Given the description of an element on the screen output the (x, y) to click on. 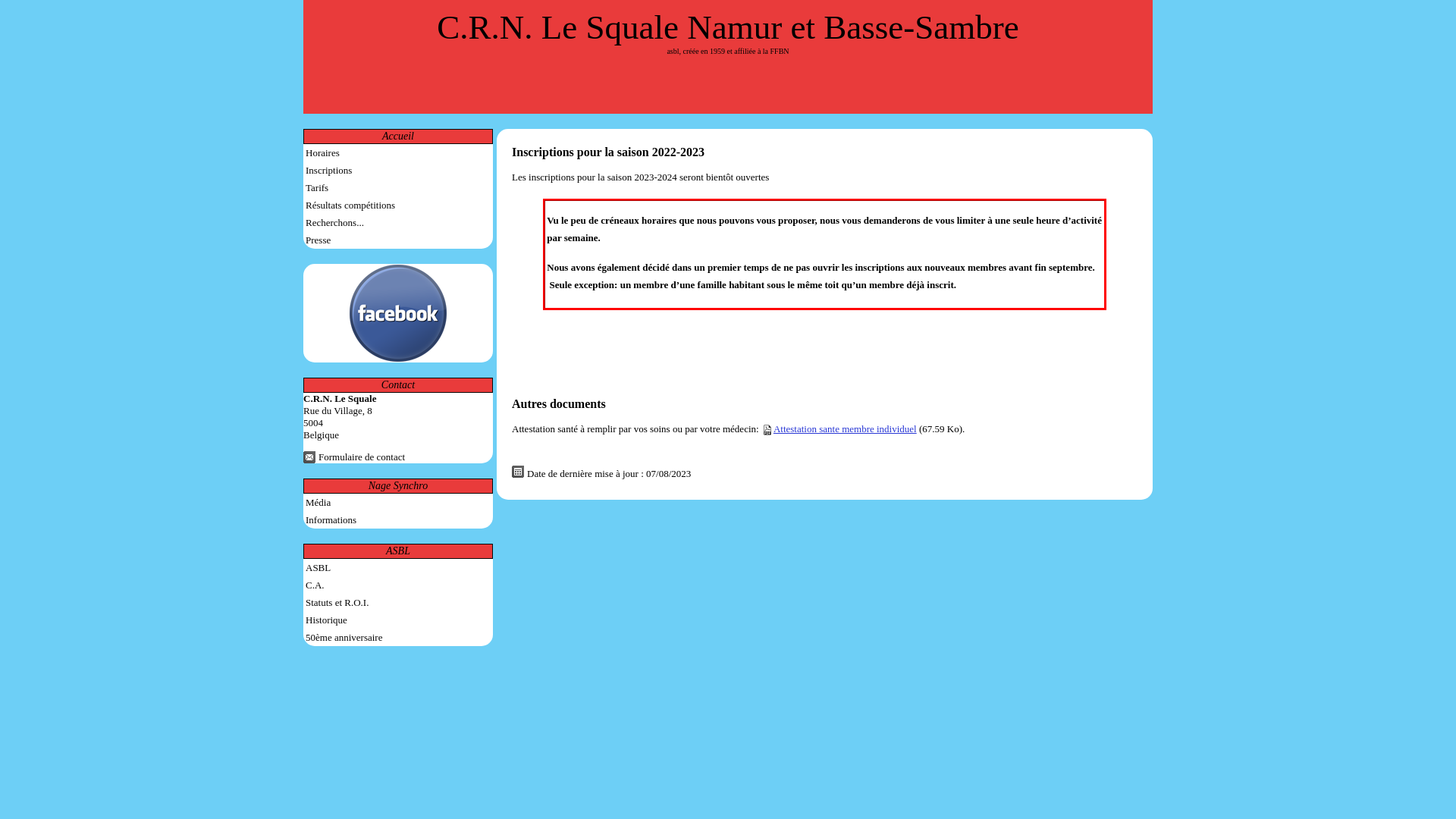
Attestation sante membre individuel Element type: text (844, 428)
Statuts et R.O.I. Element type: text (397, 602)
Horaires Element type: text (397, 152)
Nage Synchro Element type: text (397, 485)
ASBL Element type: text (397, 550)
Tarifs Element type: text (397, 187)
C.R.N. Le Squale Namur et Basse-Sambre Element type: text (727, 27)
Presse Element type: text (397, 239)
ASBL Element type: text (397, 567)
Contact Element type: text (397, 384)
Informations Element type: text (397, 519)
Historique Element type: text (397, 619)
C.A. Element type: text (397, 584)
Accueil Element type: text (398, 135)
Formulaire de contact Element type: text (353, 457)
Recherchons... Element type: text (397, 222)
Inscriptions Element type: text (397, 169)
